Given the description of an element on the screen output the (x, y) to click on. 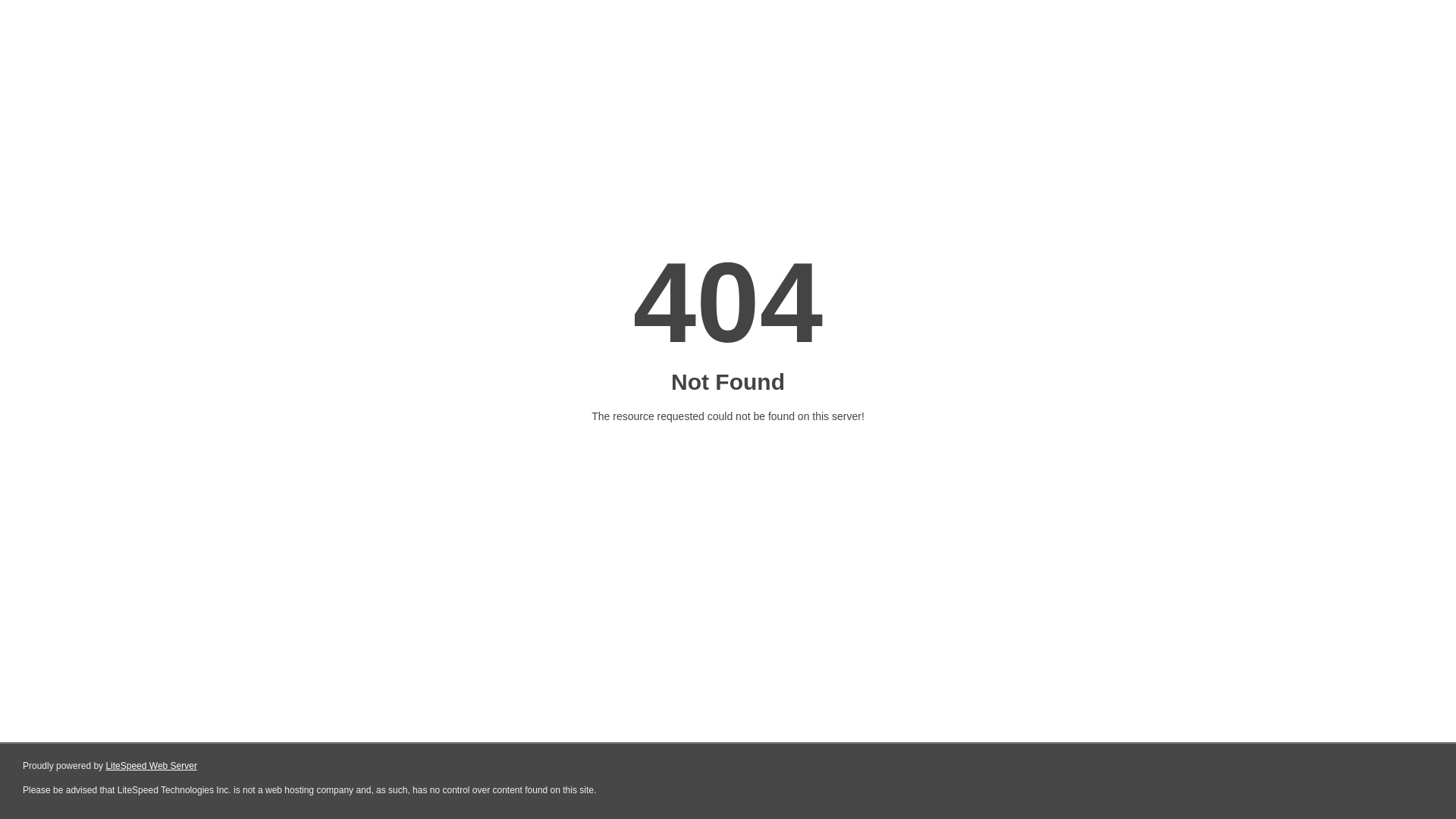
LiteSpeed Web Server Element type: text (151, 765)
